Given the description of an element on the screen output the (x, y) to click on. 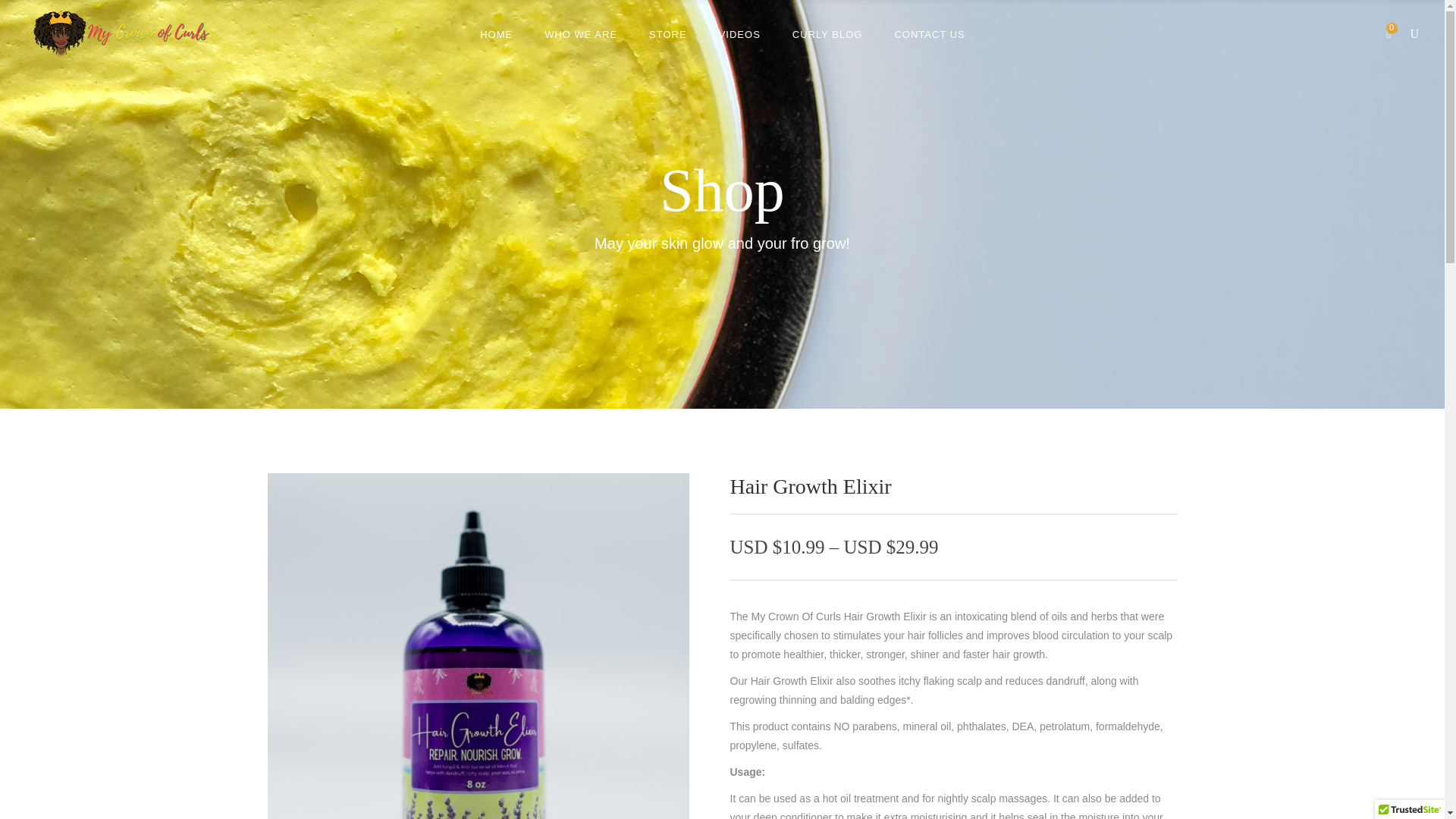
WHO WE ARE (580, 33)
STORE (668, 33)
CONTACT US (928, 33)
CURLY BLOG (827, 33)
HOME (496, 33)
VIDEOS (739, 33)
U (986, 419)
